Given the description of an element on the screen output the (x, y) to click on. 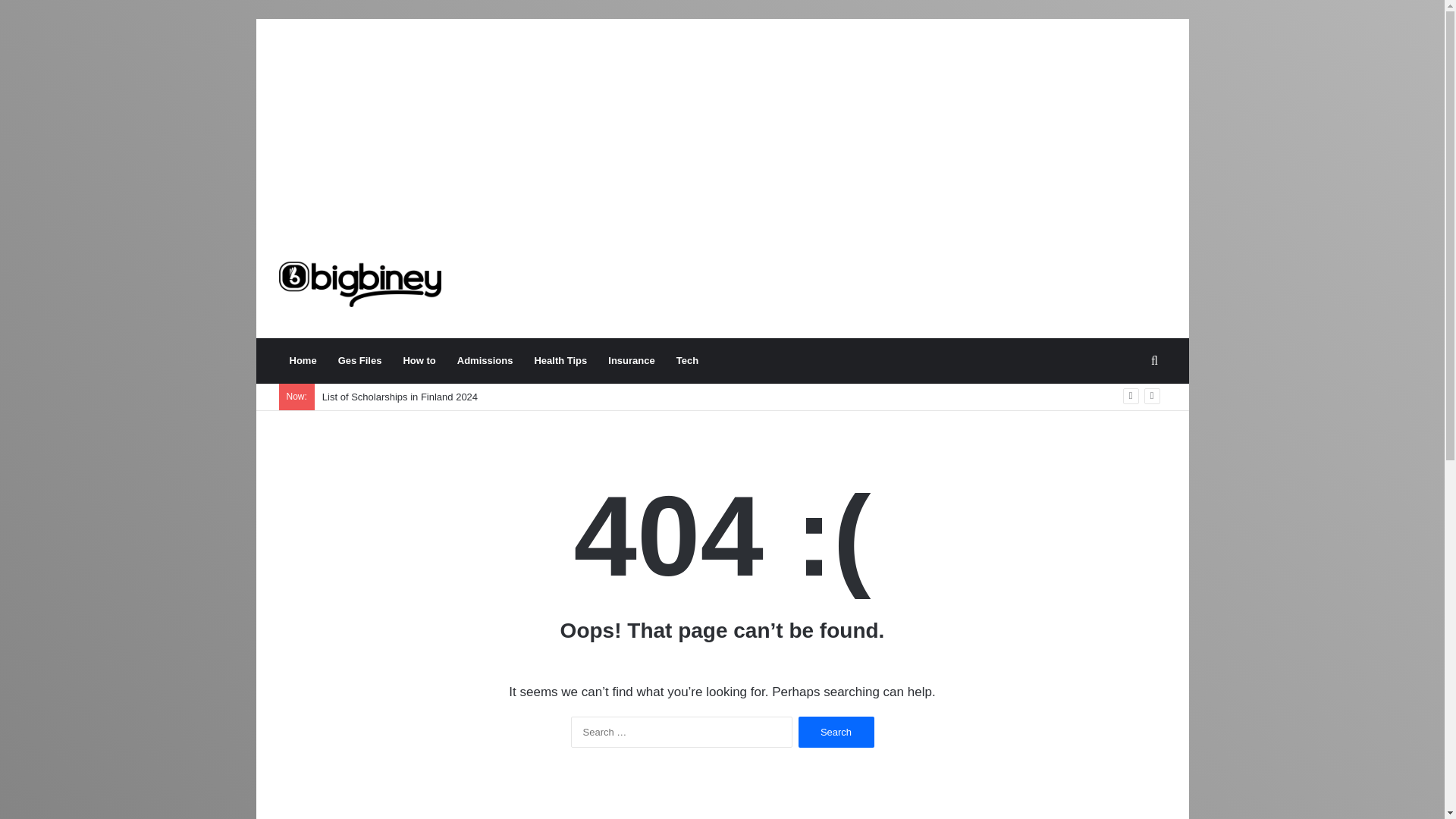
Tech (687, 361)
Insurance (630, 361)
Search (835, 731)
Admissions (485, 361)
Bigbiney (360, 284)
How to (418, 361)
Advertisement (873, 280)
Home (303, 361)
Ges Files (360, 361)
Health Tips (559, 361)
